Given the description of an element on the screen output the (x, y) to click on. 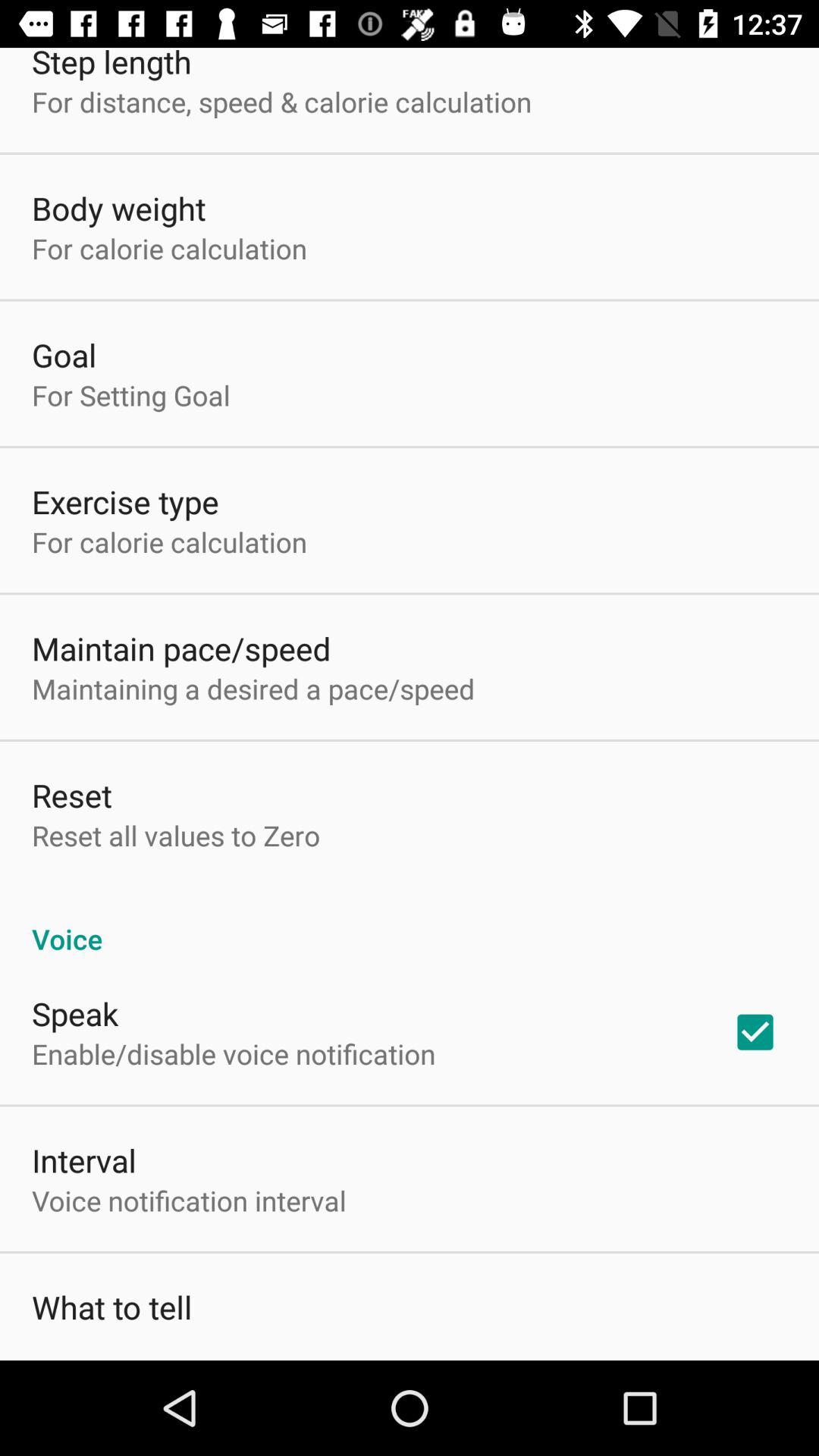
press speak icon (74, 1013)
